Given the description of an element on the screen output the (x, y) to click on. 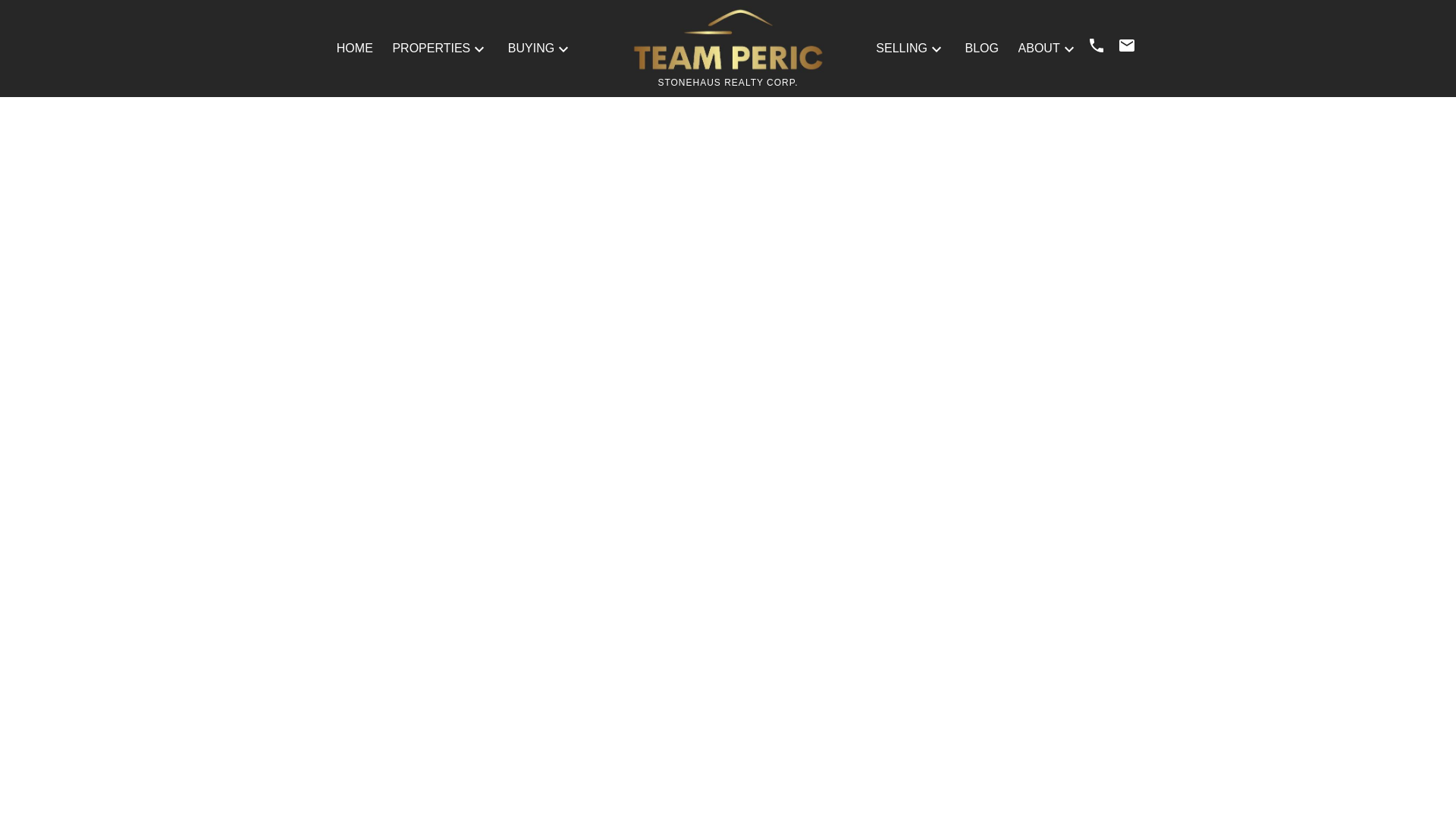
BLOG (980, 48)
BUYING (531, 48)
HOME (354, 48)
PROPERTIES (430, 48)
ABOUT (1038, 48)
SELLING (901, 48)
